Given the description of an element on the screen output the (x, y) to click on. 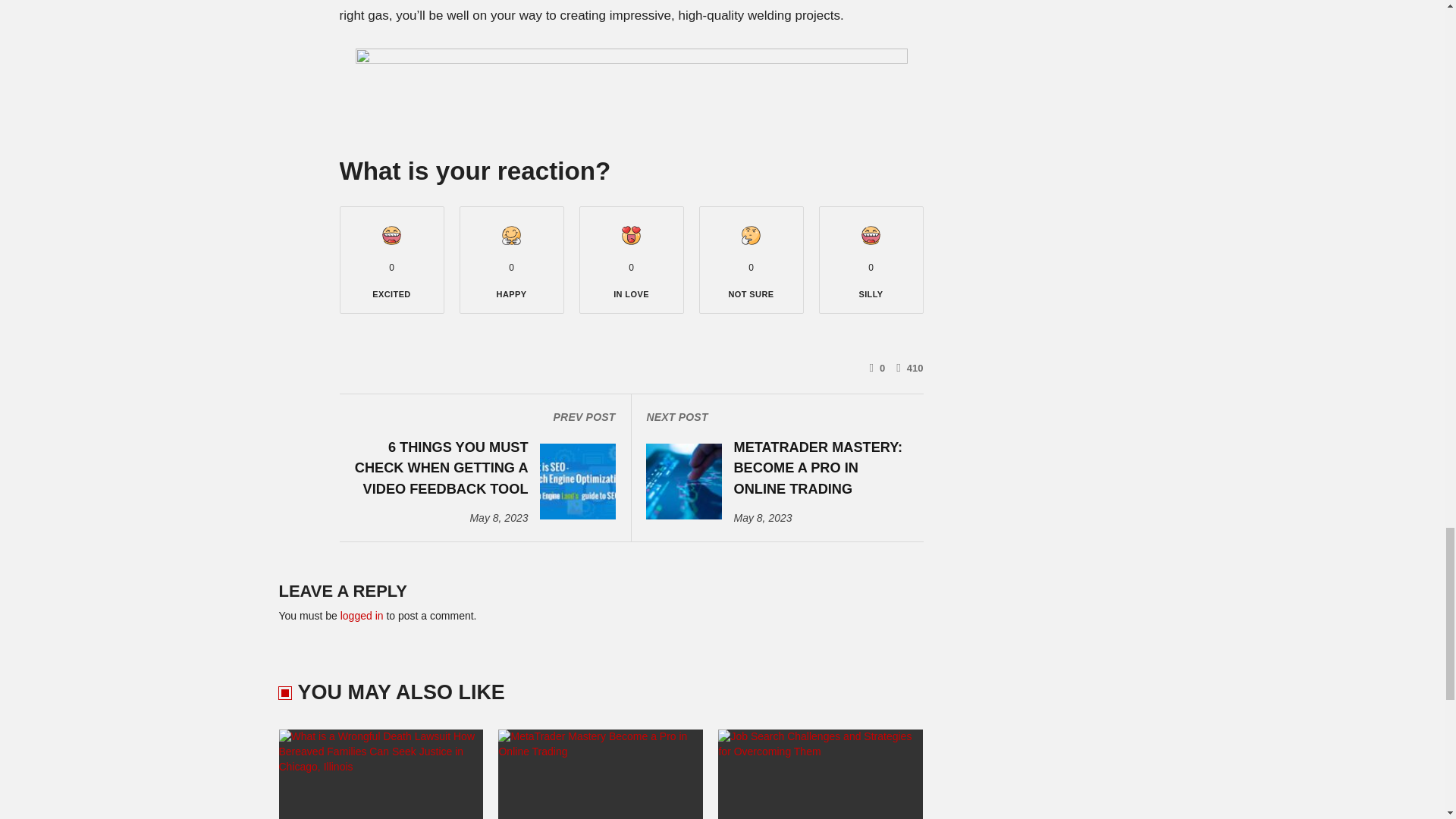
0 (877, 367)
6 Things You Must Check When Getting a Video Feedback Tool 1 (577, 481)
